Given the description of an element on the screen output the (x, y) to click on. 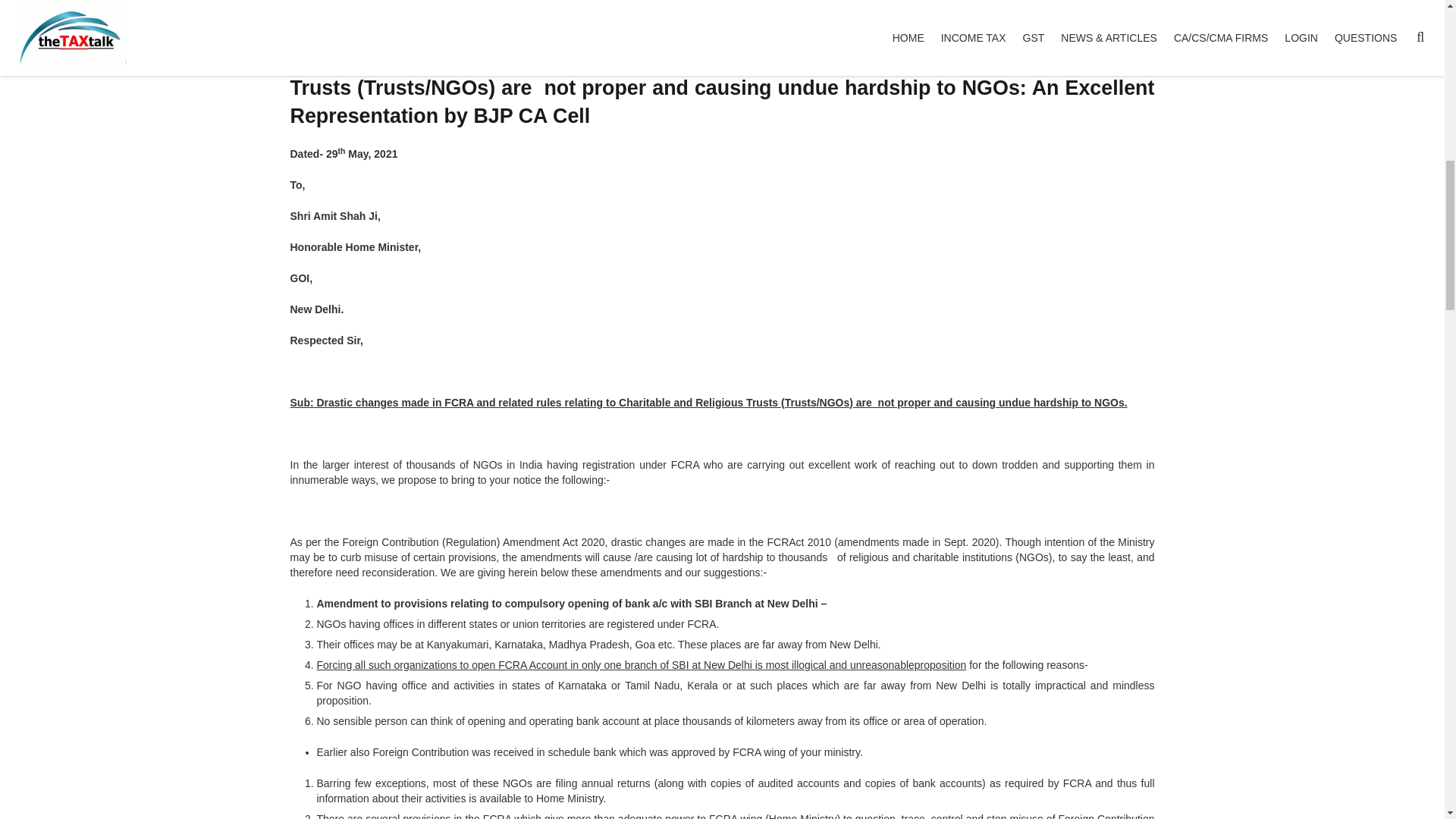
Back to top (1413, 22)
